Given the description of an element on the screen output the (x, y) to click on. 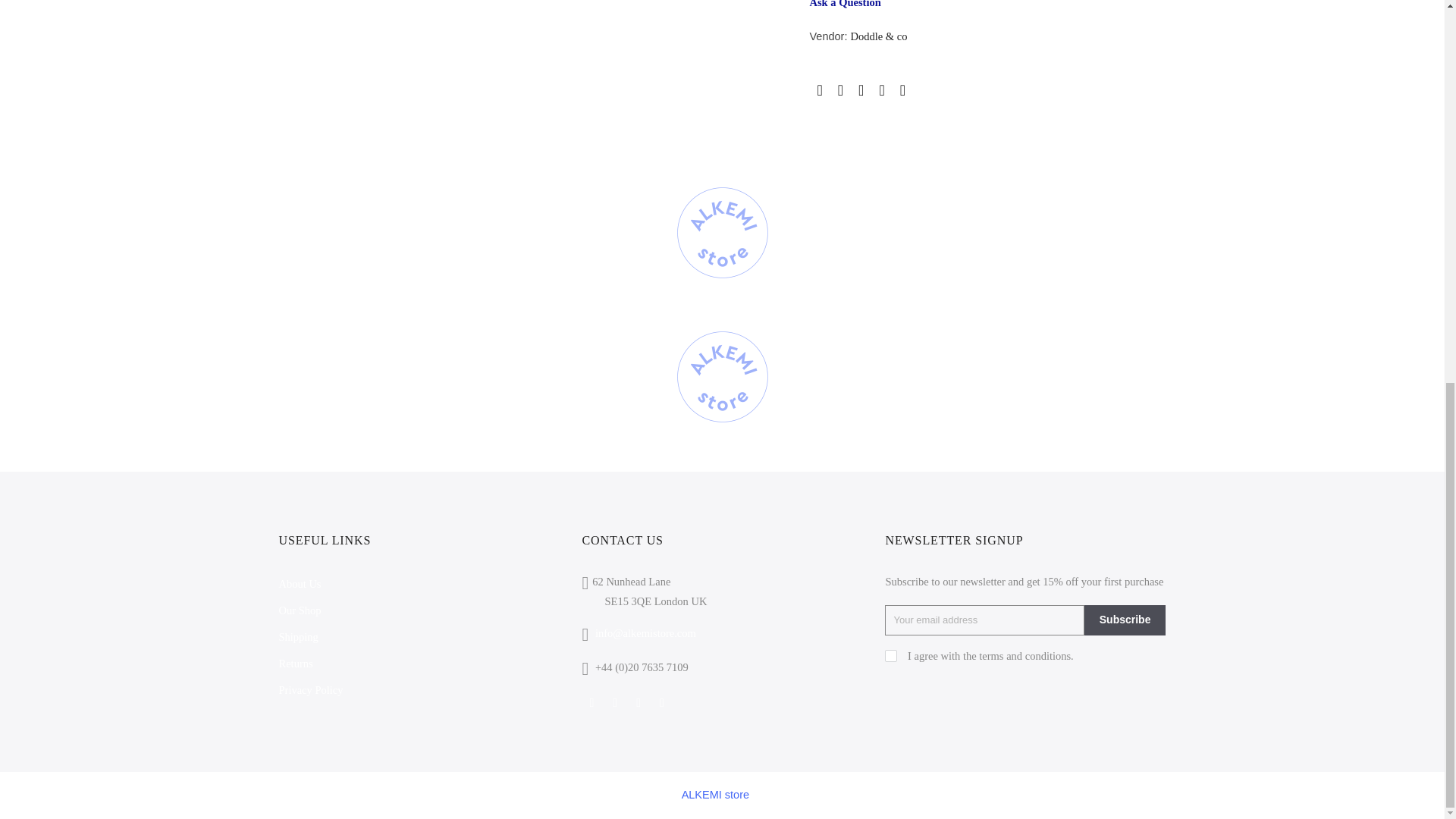
Returns (296, 663)
Shipping (298, 636)
Our Shop (300, 610)
Ask a Question (844, 4)
Privacy Policy (311, 689)
About Us (300, 583)
